Given the description of an element on the screen output the (x, y) to click on. 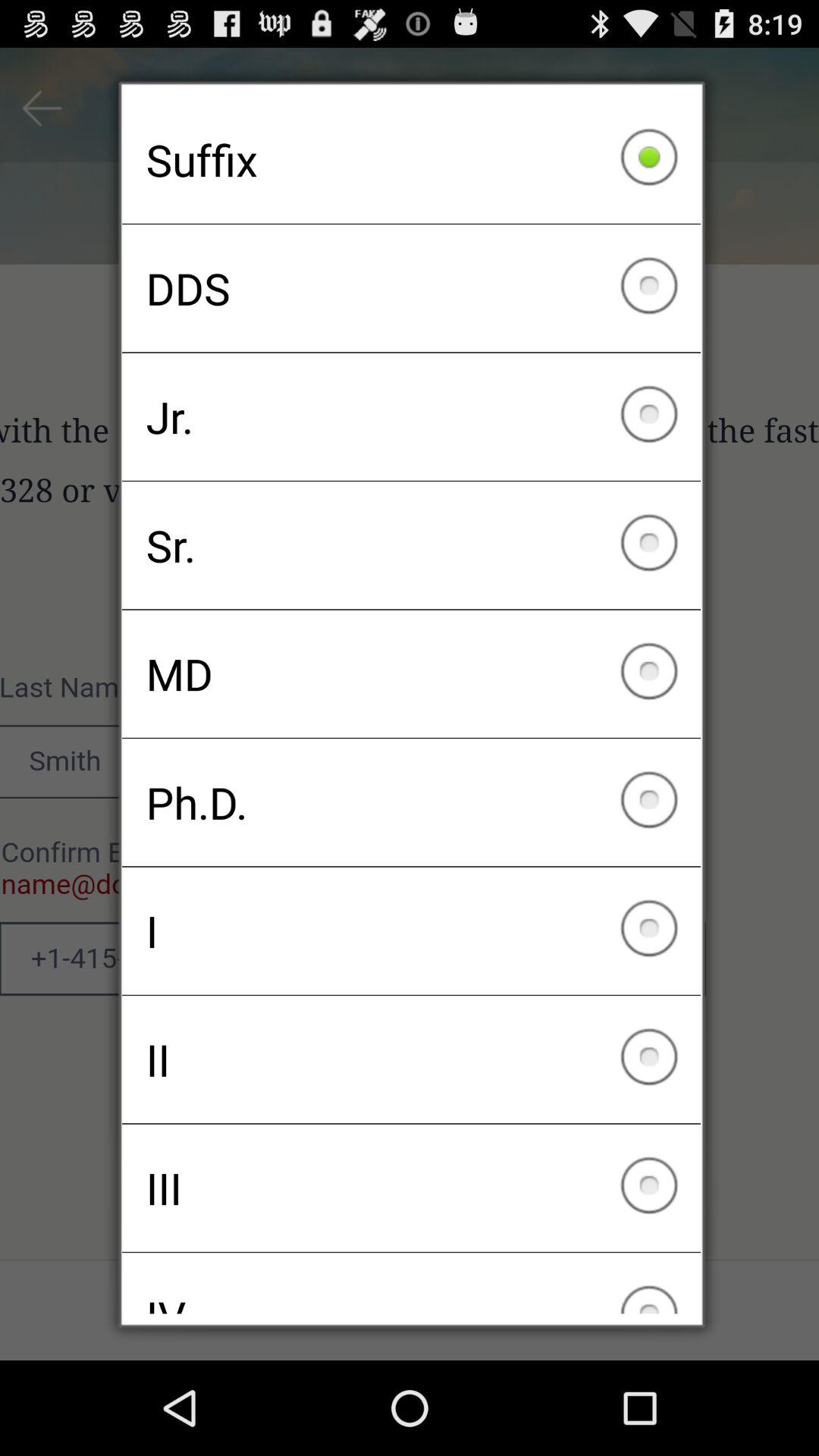
select the checkbox above the iii item (411, 1059)
